Given the description of an element on the screen output the (x, y) to click on. 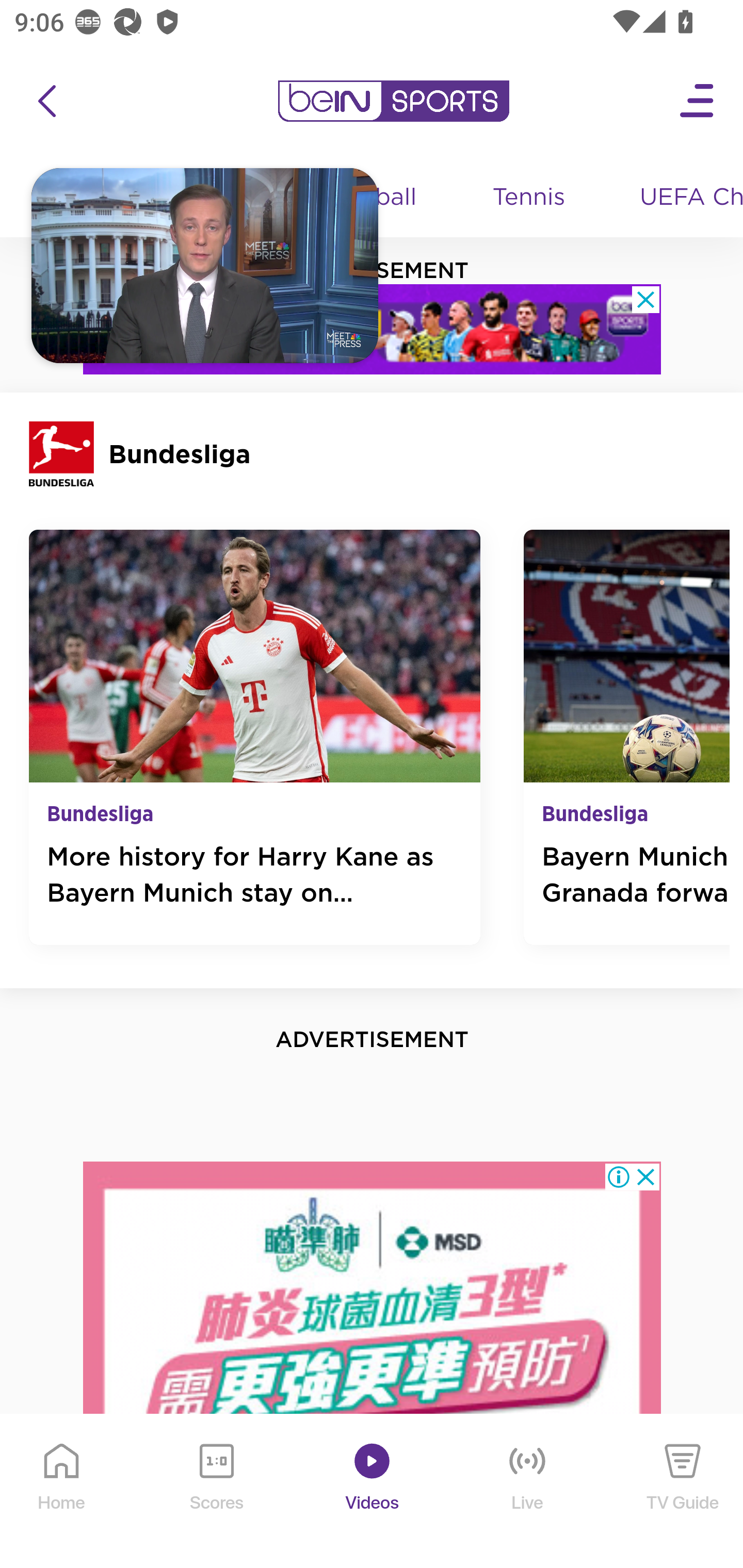
en-my?platform=mobile_android bein logo (392, 101)
icon back (46, 101)
Open Menu Icon (697, 101)
Tennis (530, 198)
UEFA Champions League (683, 198)
Advertisement (372, 1364)
Home Home Icon Home (61, 1491)
Scores Scores Icon Scores (216, 1491)
Videos Videos Icon Videos (372, 1491)
TV Guide TV Guide Icon TV Guide (682, 1491)
